Given the description of an element on the screen output the (x, y) to click on. 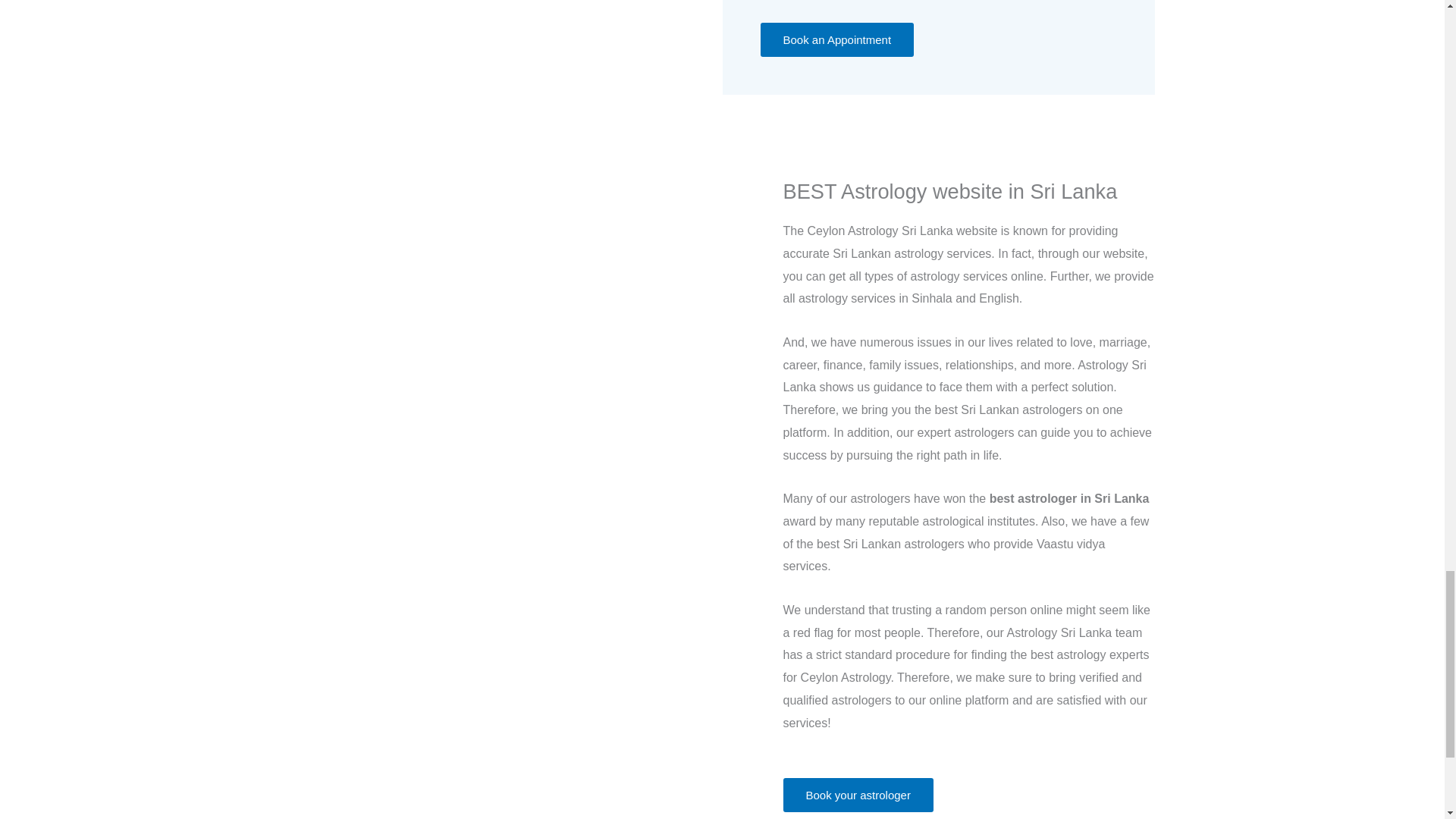
Book an Appointment (837, 39)
